Given the description of an element on the screen output the (x, y) to click on. 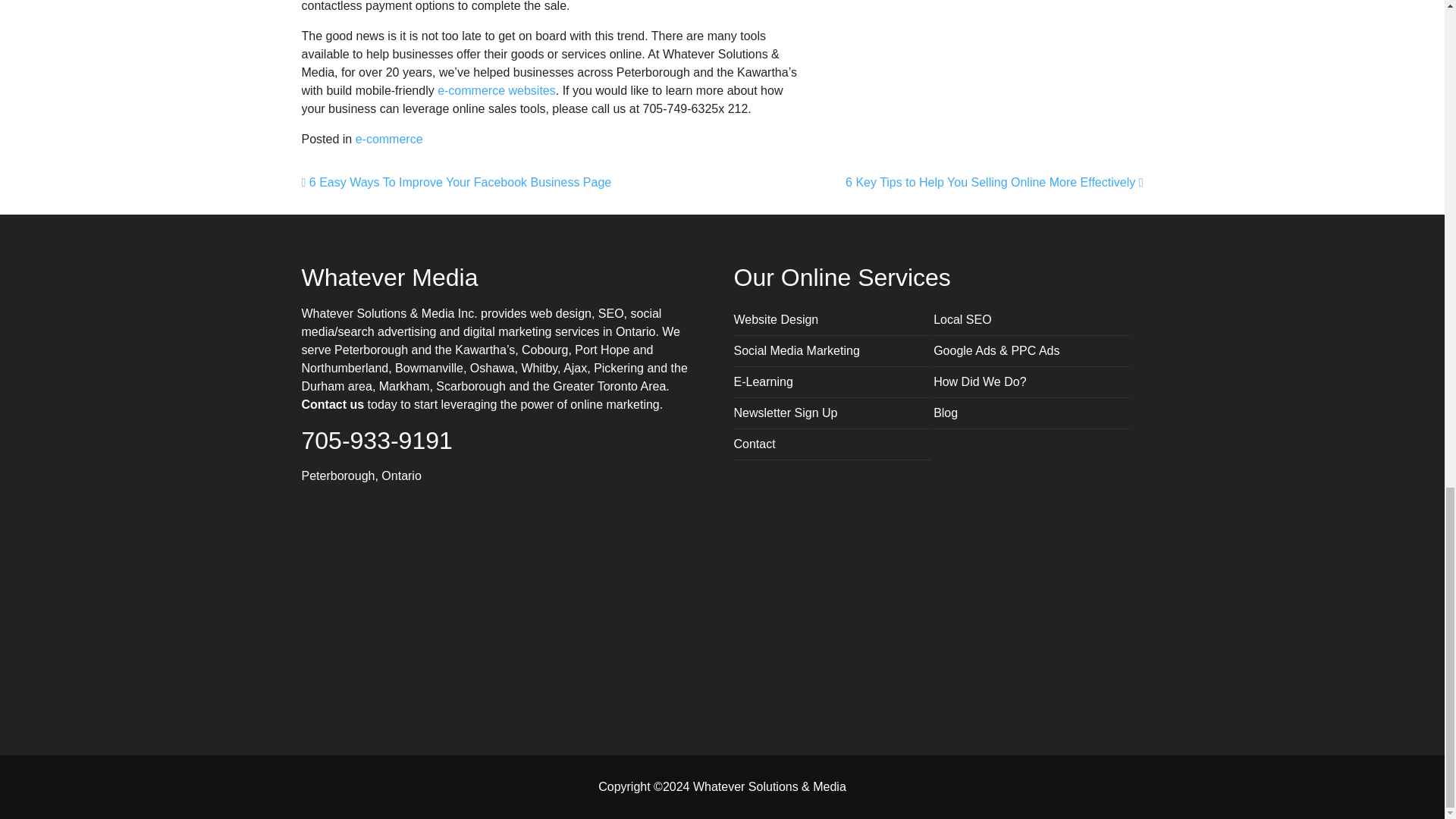
e-commerce (389, 138)
 6 Easy Ways To Improve Your Facebook Business Page (456, 182)
Social Media Marketing (796, 350)
Contact us (333, 404)
Website Design (775, 318)
e-commerce websites (497, 90)
6 Key Tips to Help You Selling Online More Effectively  (993, 182)
E-Learning (763, 381)
Local SEO (962, 318)
